Given the description of an element on the screen output the (x, y) to click on. 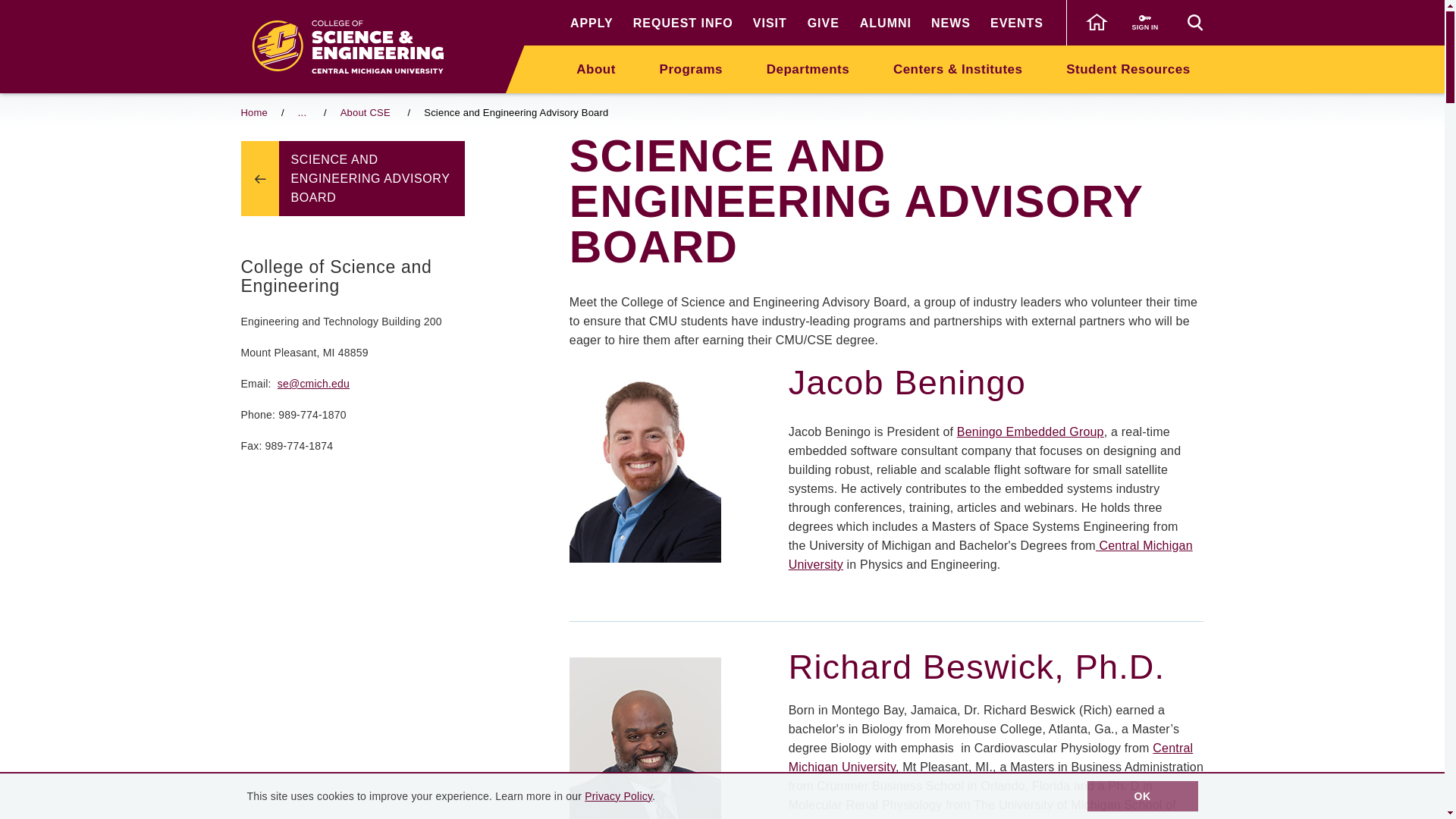
NEWS (951, 23)
EVENTS (1016, 23)
OK (1142, 796)
REQUEST INFO (683, 23)
Departments (807, 68)
SIGN IN (1145, 22)
CSE Logo (354, 45)
Science and Engineering Advisory Board (371, 178)
ALUMNI (885, 23)
Student Resources (1127, 68)
About (596, 68)
Privacy Policy (618, 796)
Programs (691, 68)
